Given the description of an element on the screen output the (x, y) to click on. 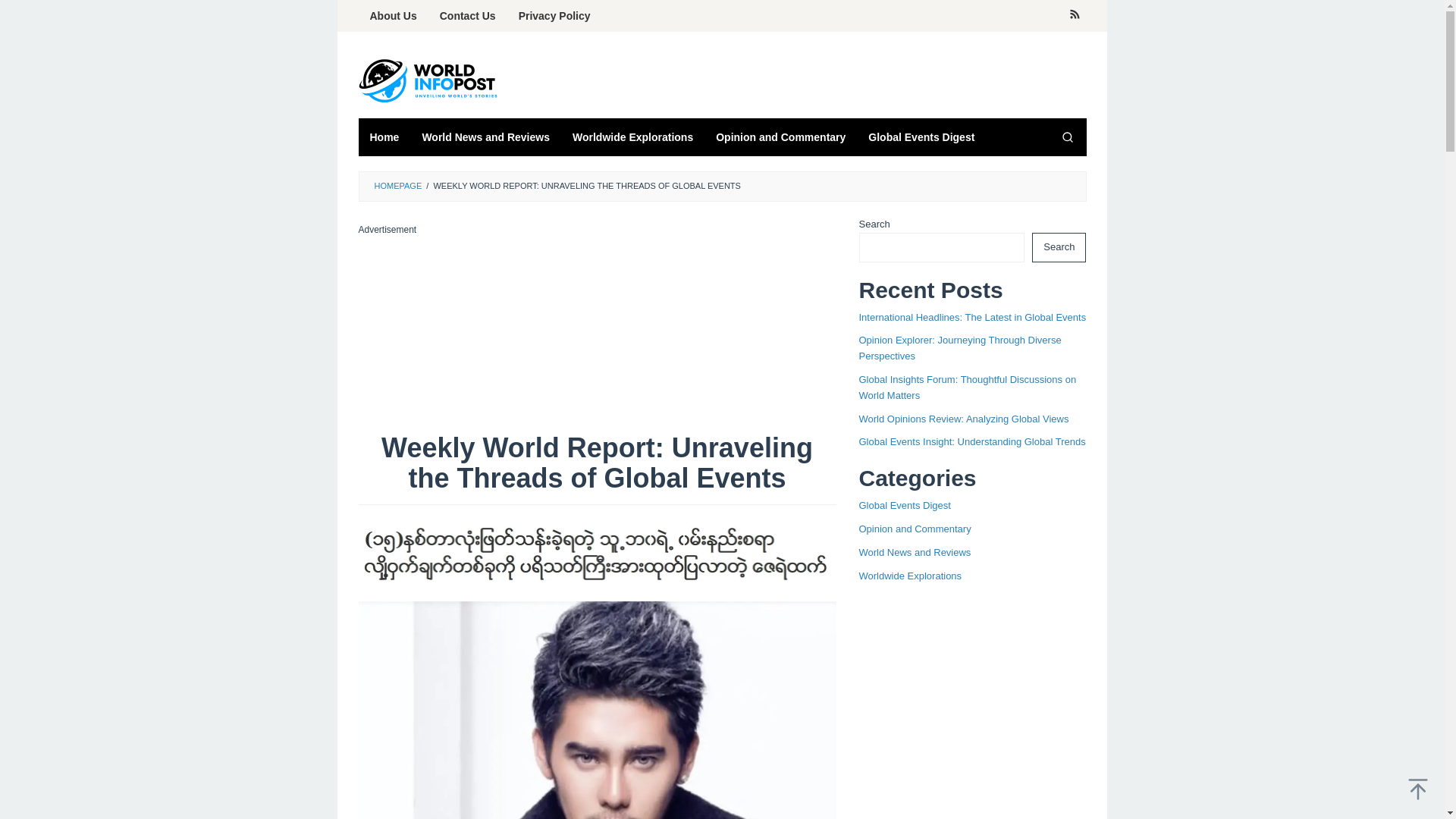
World info Post (433, 79)
World info Post (433, 80)
Global Events Digest (921, 136)
Privacy Policy (554, 15)
Global Events Insight: Understanding Global Trends (971, 441)
International Headlines: The Latest in Global Events (972, 317)
Opinion and Commentary (915, 528)
World News and Reviews (915, 552)
Search (1067, 136)
HOMEPAGE (398, 185)
Home (384, 136)
Opinion Explorer: Journeying Through Diverse Perspectives (960, 347)
World News and Reviews (485, 136)
Global Events Digest (904, 505)
